Given the description of an element on the screen output the (x, y) to click on. 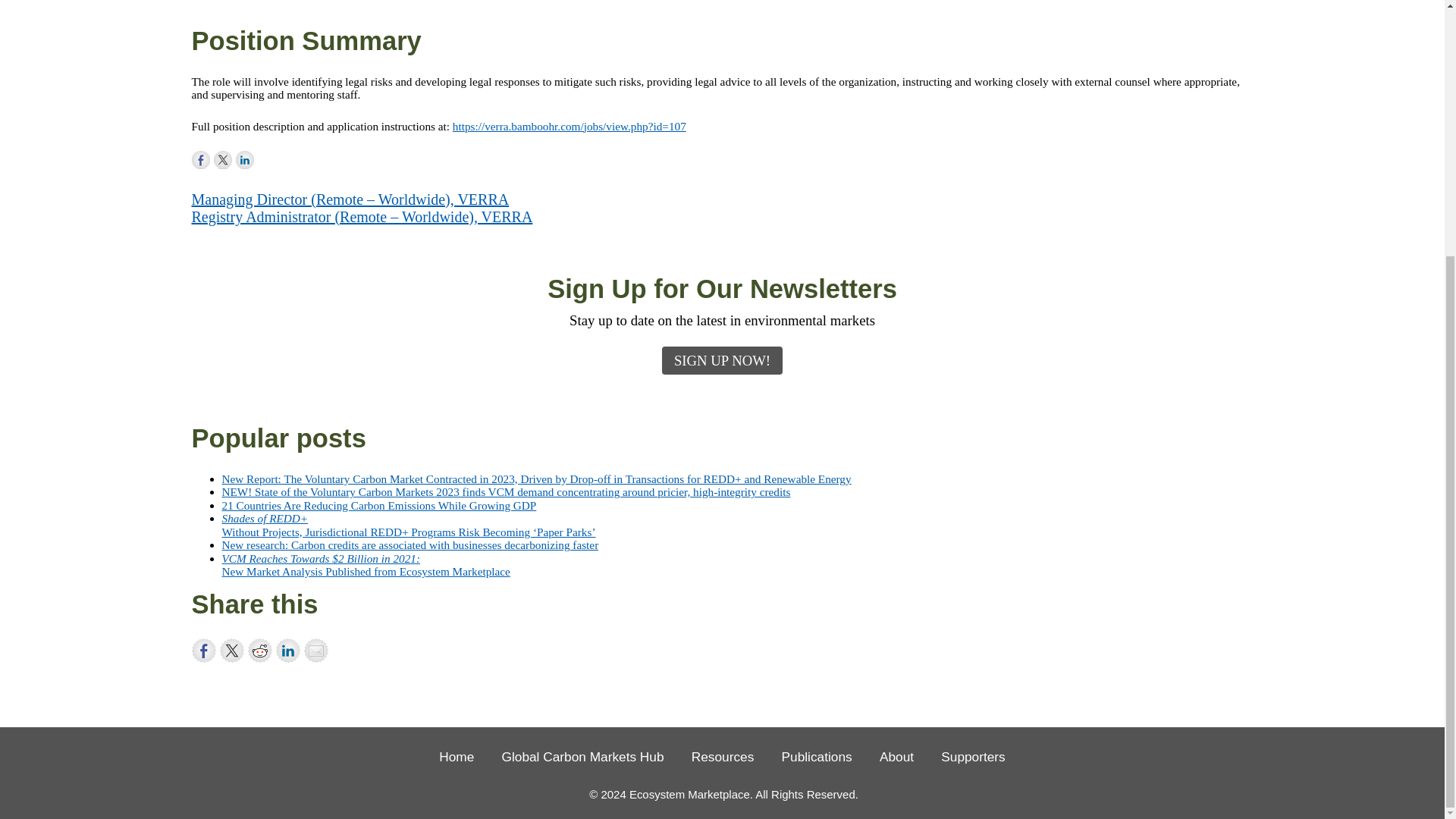
21 Countries Are Reducing Carbon Emissions While Growing GDP (378, 504)
Resources (723, 757)
About (896, 757)
SIGN UP NOW! (722, 360)
21 Countries Are Reducing Carbon Emissions While Growing GDP (378, 504)
Publications (817, 757)
Follow us on Facebook (199, 159)
Home (456, 757)
